Given the description of an element on the screen output the (x, y) to click on. 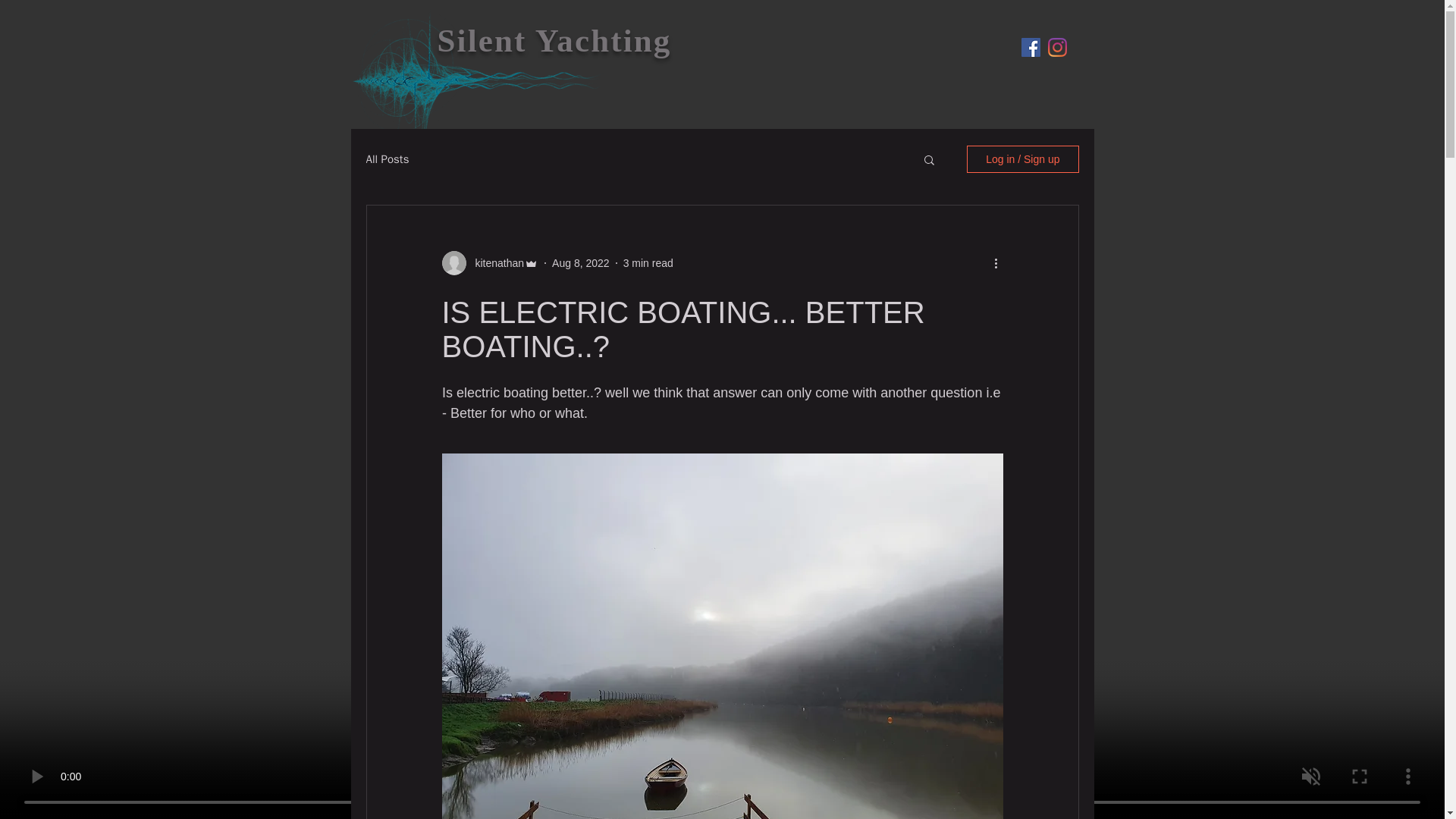
All Posts (387, 158)
kitenathan (494, 262)
Silent Yachting (553, 40)
Silent Yachting Company logo (480, 81)
Aug 8, 2022 (580, 262)
3 min read (647, 262)
